Given the description of an element on the screen output the (x, y) to click on. 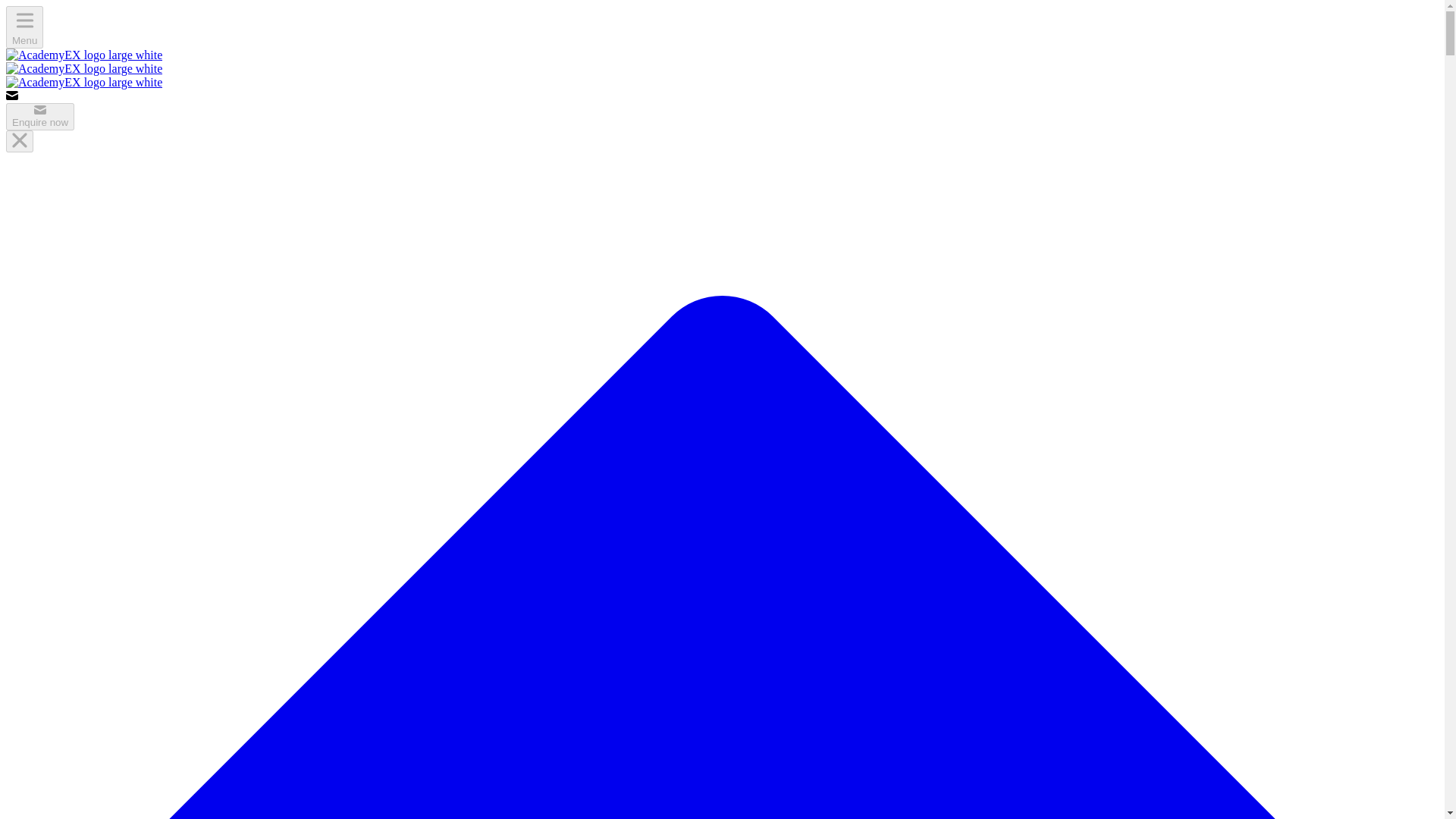
Enquire now (39, 116)
Hamburger (25, 20)
Close (19, 141)
Close (19, 140)
